Given the description of an element on the screen output the (x, y) to click on. 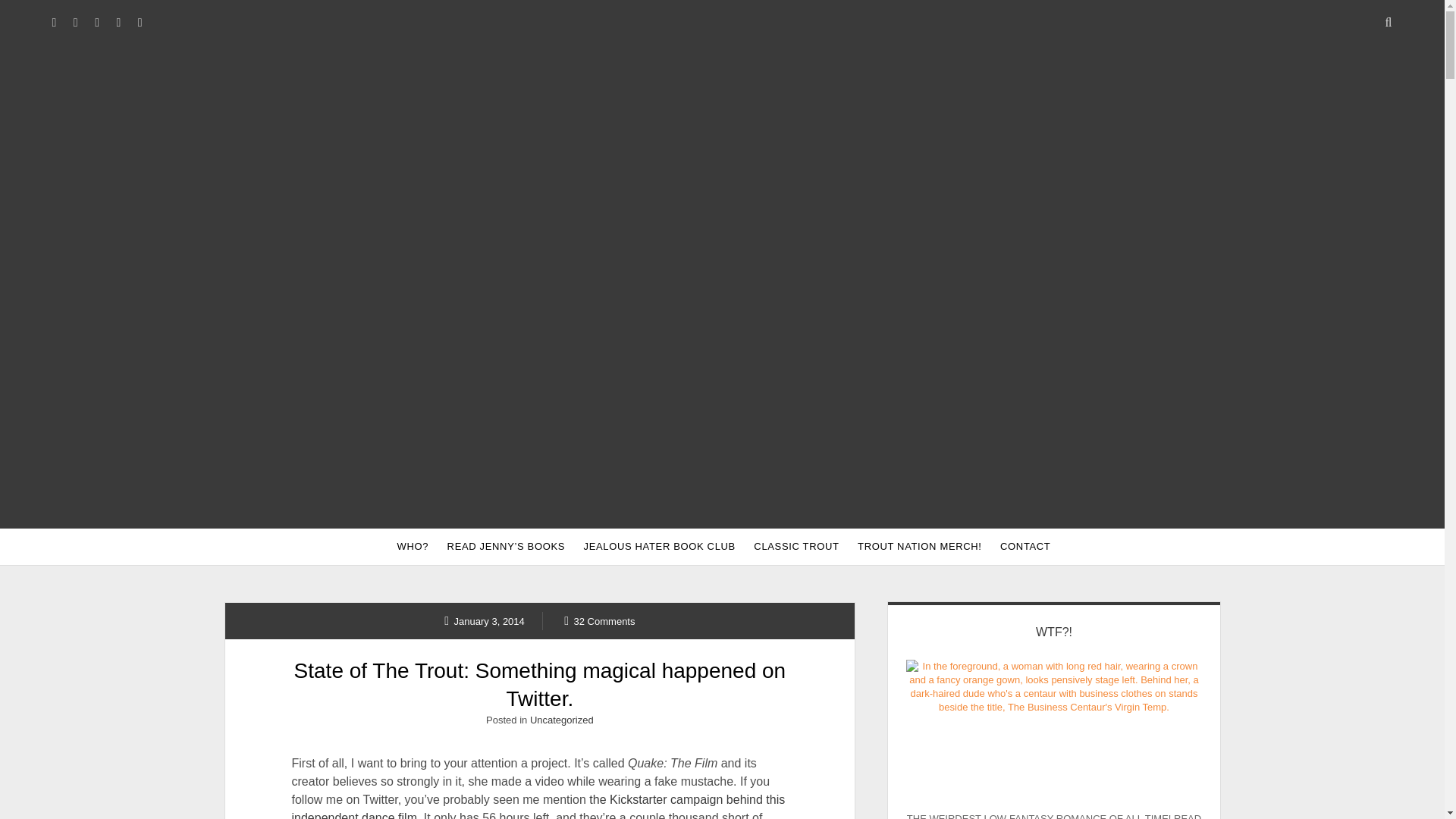
TROUT NATION MERCH! (919, 546)
CONTACT (1025, 546)
View all posts in Uncategorized (561, 719)
WHO? (413, 546)
32 Comments (599, 620)
January 3, 2014 (484, 620)
Posts from January (484, 620)
Uncategorized (561, 719)
CLASSIC TROUT (795, 546)
the Kickstarter campaign behind this independent dance film (539, 806)
Comments for this post (599, 620)
JEALOUS HATER BOOK CLUB (659, 546)
